Given the description of an element on the screen output the (x, y) to click on. 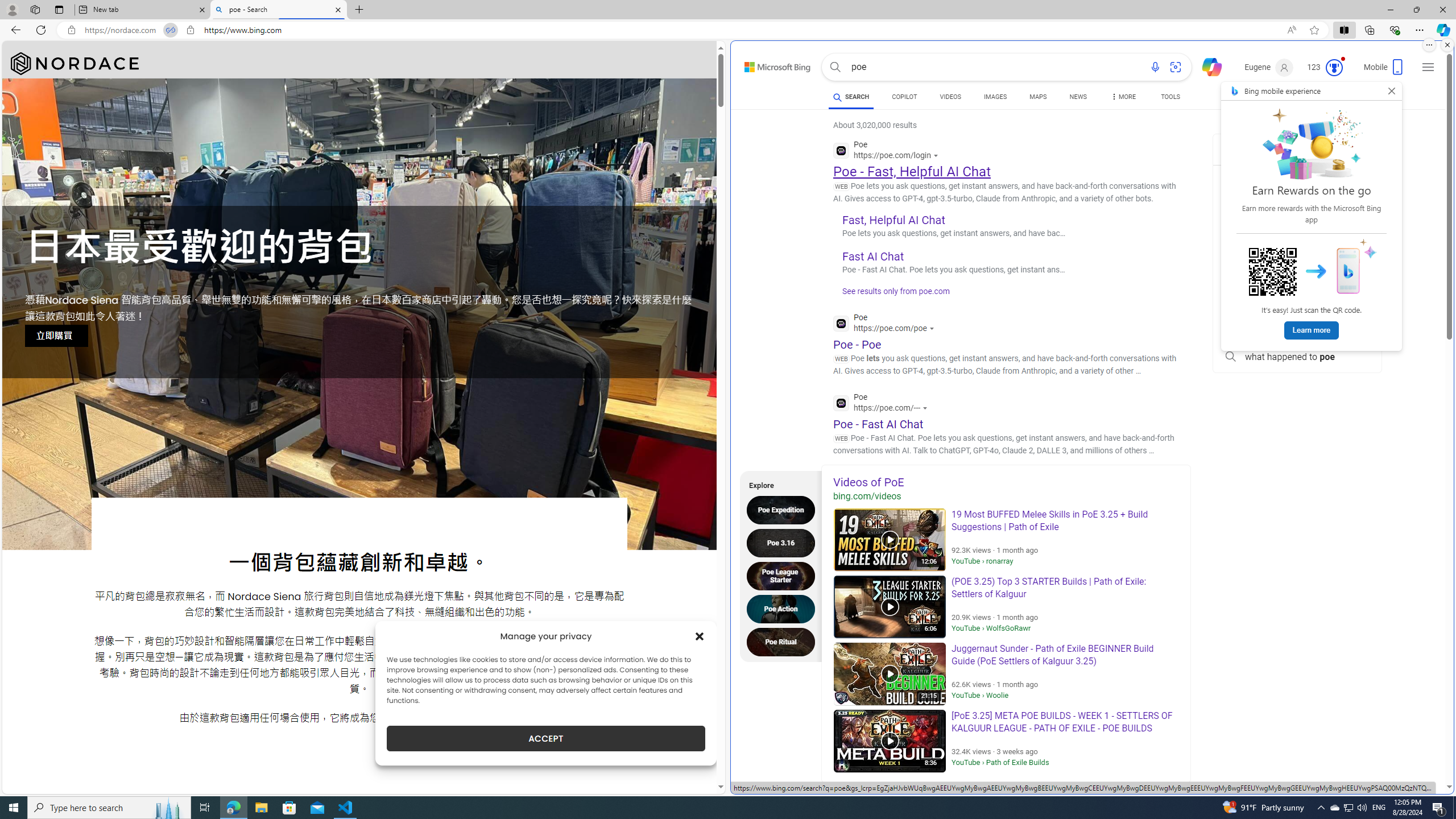
Fast AI Chat (873, 255)
TOOLS (1171, 98)
Scan me! (1273, 272)
Tabs in split screen (170, 29)
SEARCH (850, 96)
poe.com login (1297, 305)
MAPS (1038, 98)
IMAGES (995, 96)
Poe - Fast, Helpful AI Chat (911, 170)
More options. (1428, 45)
Poe Ritual (783, 641)
